Given the description of an element on the screen output the (x, y) to click on. 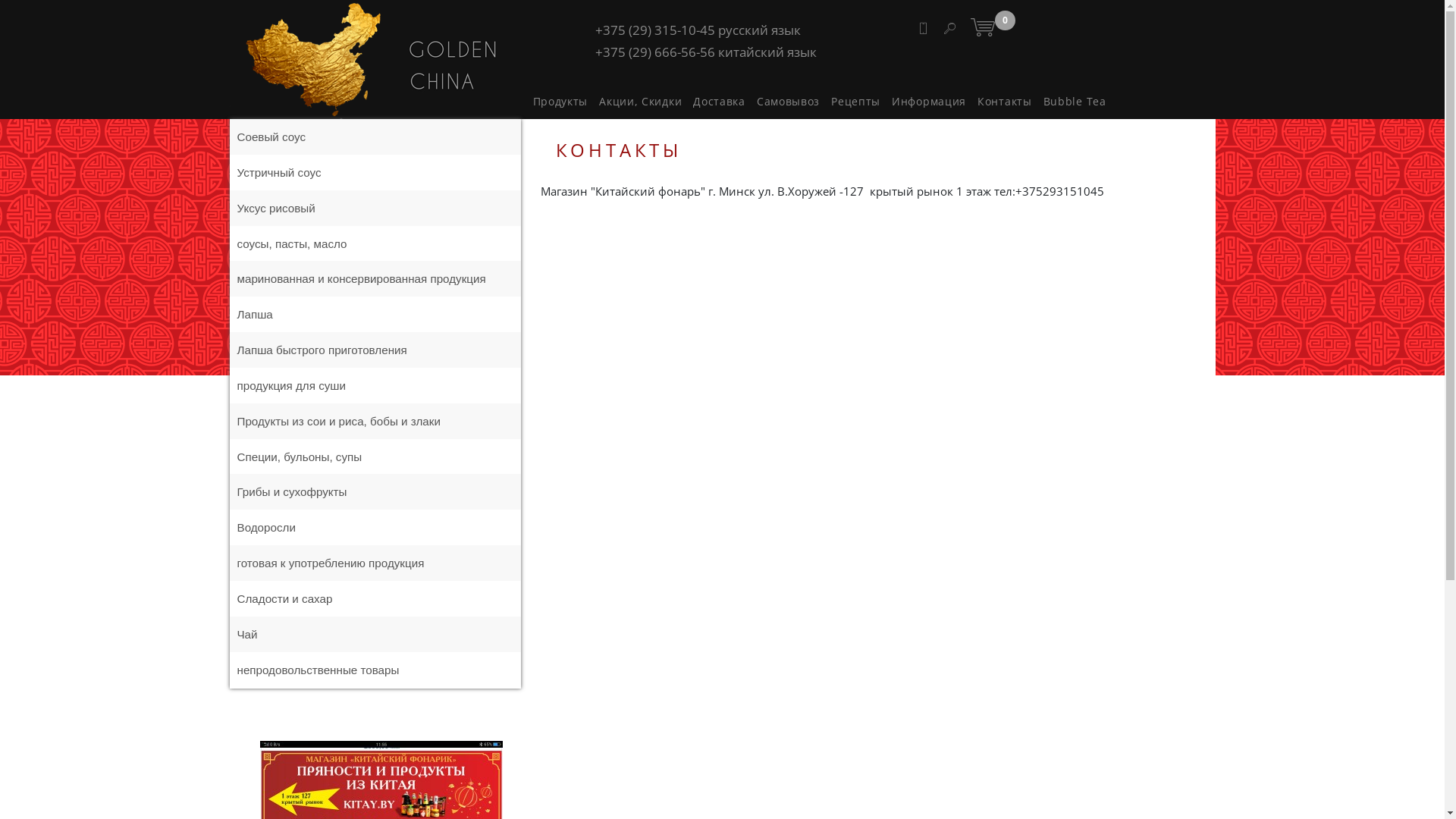
Bubble Tea Element type: text (1074, 101)
